Given the description of an element on the screen output the (x, y) to click on. 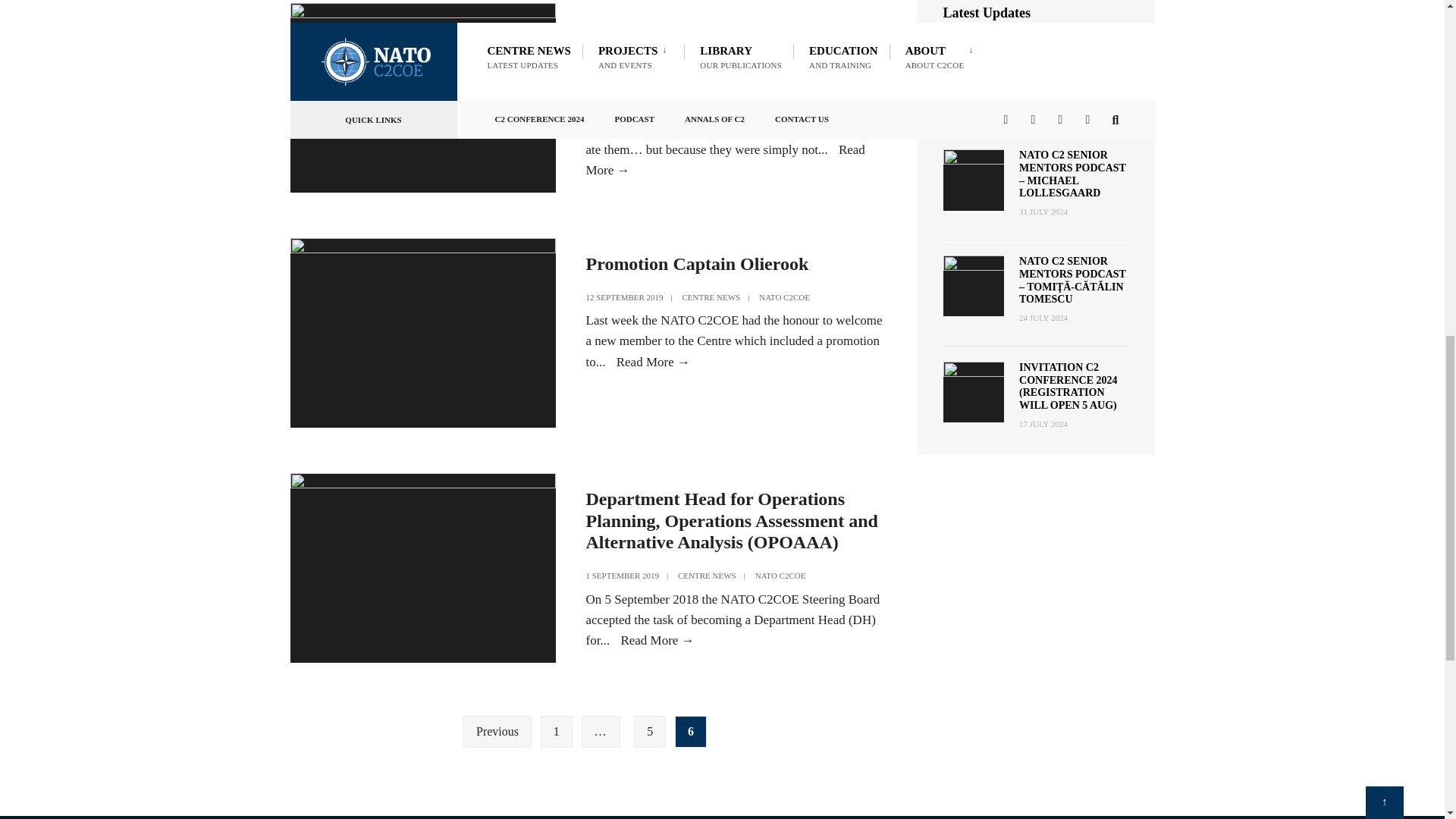
CENTRE NEWS (701, 104)
Posts by NATO C2COE (780, 574)
CENTRE NEWS (711, 297)
Posts by NATO C2COE (817, 104)
Promotion Captain Olierook (696, 263)
Scroll to top (1384, 1)
NATO C2COE (817, 104)
NATO C2COE (783, 297)
Posts by NATO C2COE (783, 297)
MEETING (754, 104)
